Given the description of an element on the screen output the (x, y) to click on. 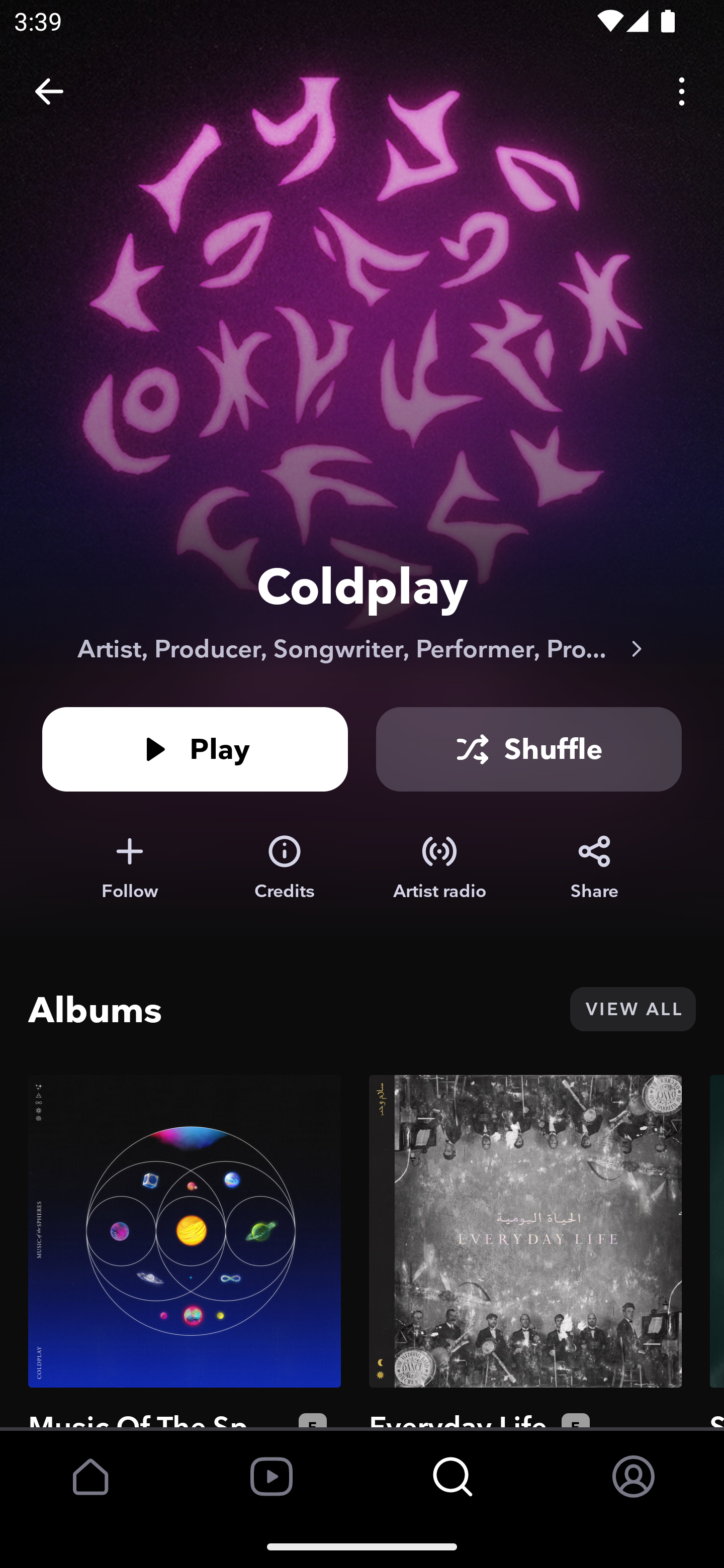
Options (681, 90)
Play (194, 749)
Shuffle (528, 749)
Follow (129, 867)
Credits (284, 867)
Artist radio (439, 867)
Share (593, 867)
VIEW ALL (632, 1008)
Music Of The Spheres (184, 1250)
Everyday Life (525, 1250)
